Given the description of an element on the screen output the (x, y) to click on. 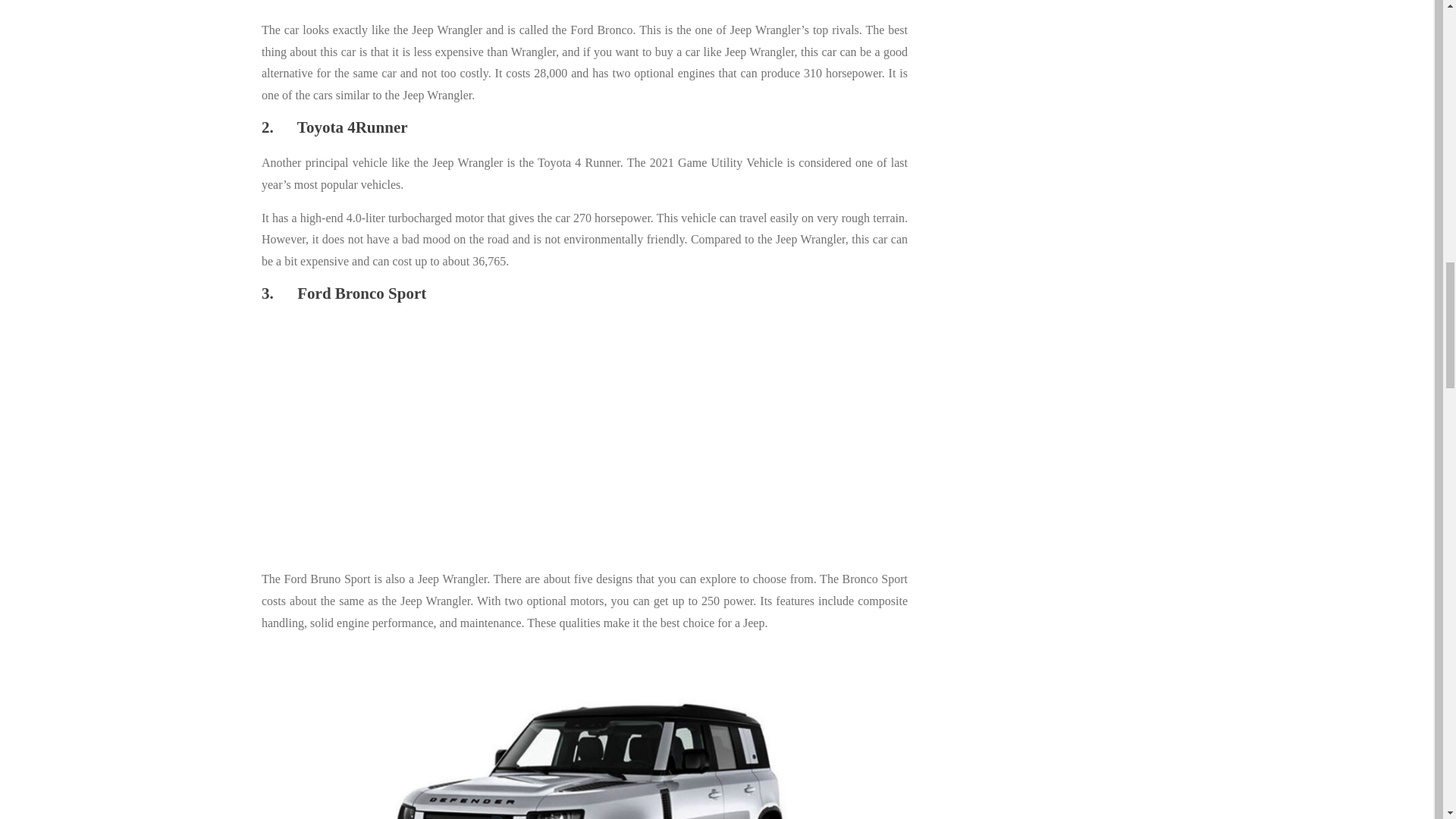
YouTube video player (473, 437)
